Given the description of an element on the screen output the (x, y) to click on. 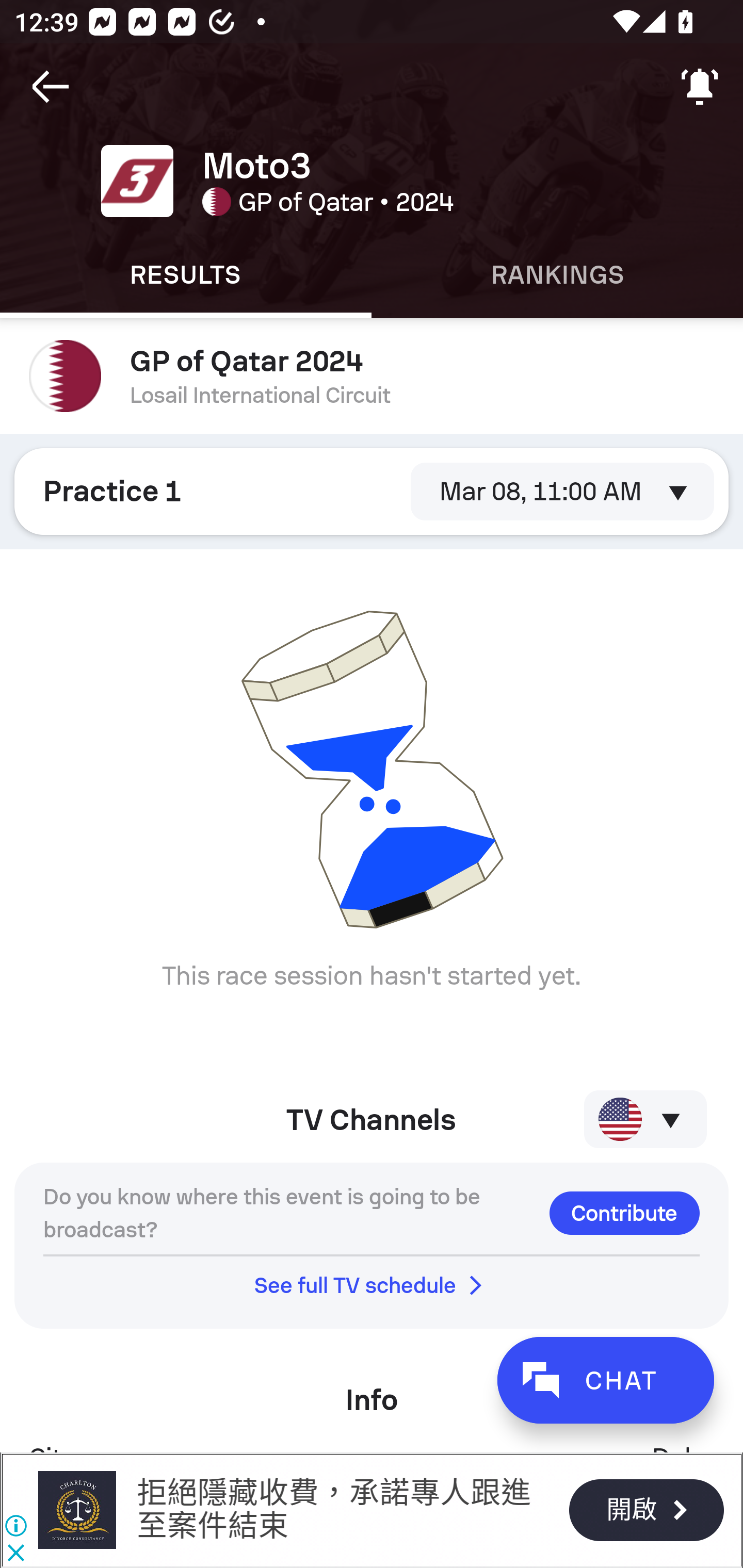
Navigate up (50, 86)
Rankings RANKINGS (557, 275)
Practice 1 Mar 08, 11:00 AM (371, 491)
Mar 08, 11:00 AM (562, 491)
Contribute (624, 1212)
See full TV schedule (371, 1284)
CHAT (605, 1380)
查爾頓事務所 (76, 1509)
拒絕隱藏收費，承諾專人跟進 至案件結束 拒絕隱藏收費，承諾專人跟進 至案件結束 (333, 1508)
開啟 (645, 1509)
